Given the description of an element on the screen output the (x, y) to click on. 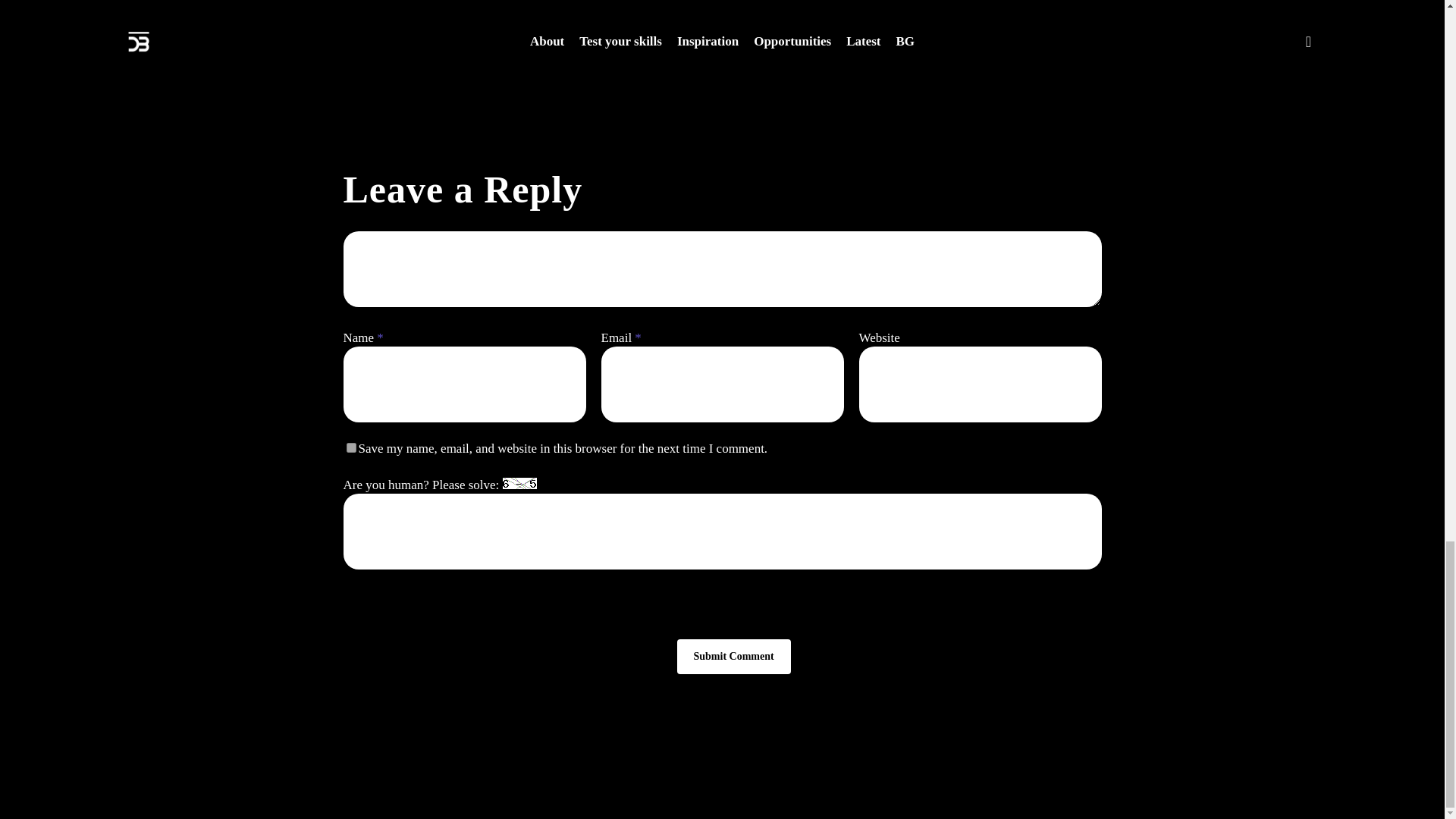
Submit Comment (733, 656)
Submit Comment (733, 656)
yes (350, 447)
